Given the description of an element on the screen output the (x, y) to click on. 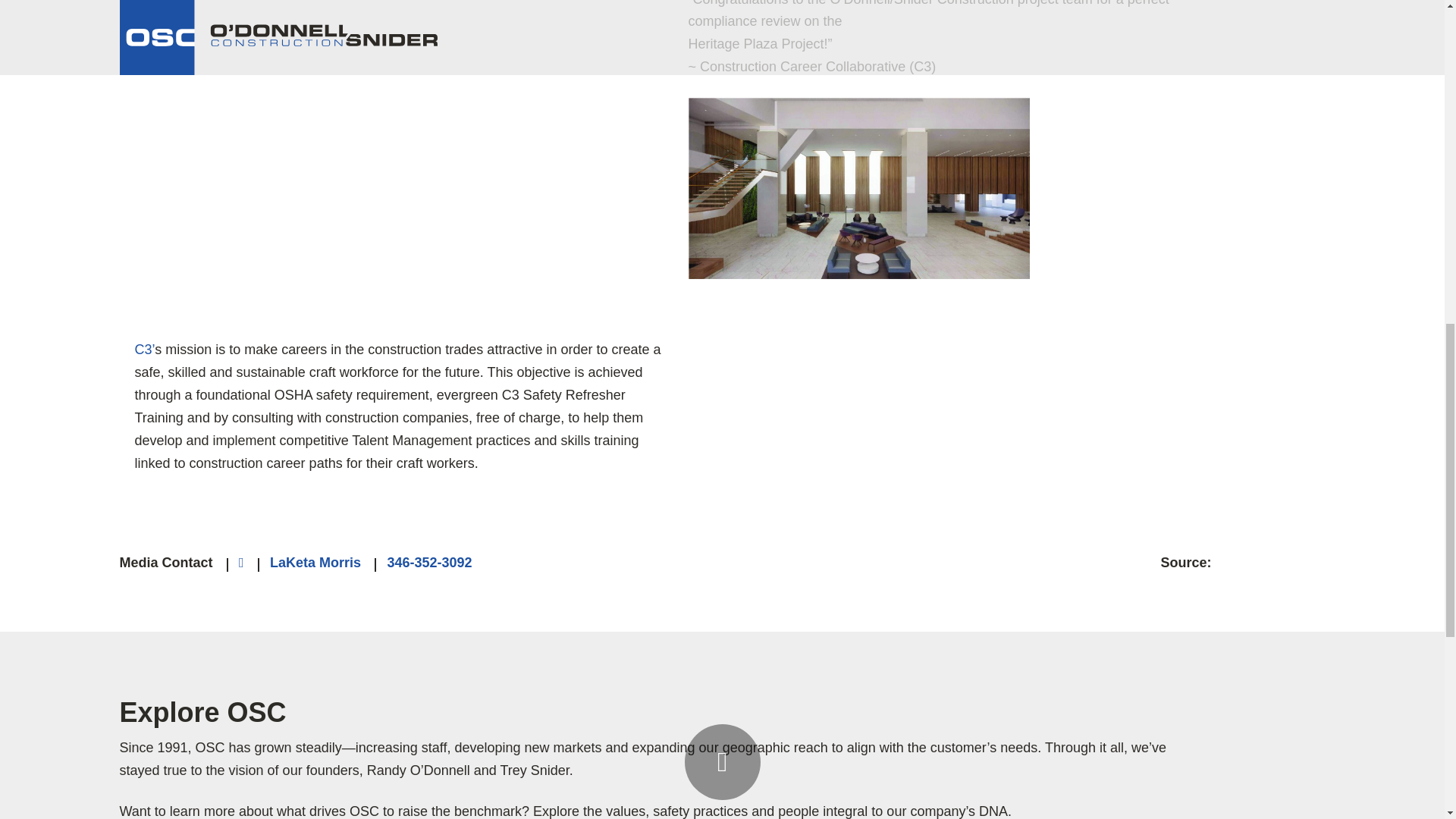
LaKeta Morris (315, 562)
346-352-3092 (429, 562)
Heritage Plaza (858, 108)
